Given the description of an element on the screen output the (x, y) to click on. 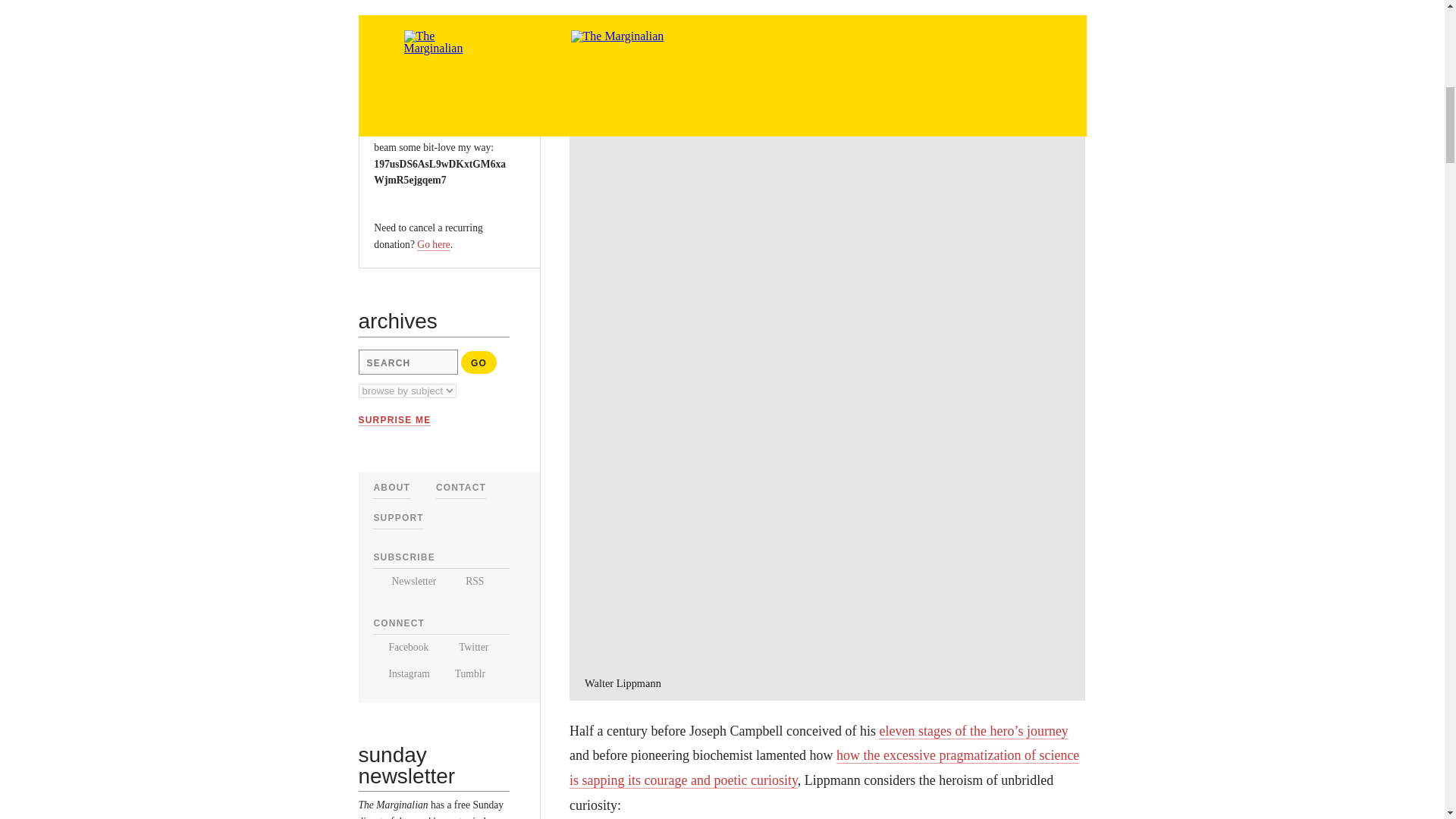
Twitter (464, 646)
Go here (432, 244)
CONTACT (460, 487)
GIVE NOW (410, 53)
Go (478, 362)
Tumblr (464, 673)
Newsletter (403, 581)
Facebook (400, 646)
RSS (466, 581)
ABOUT (391, 487)
SURPRISE ME (394, 419)
SUPPORT (397, 517)
Go (478, 362)
Instagram (400, 673)
